Given the description of an element on the screen output the (x, y) to click on. 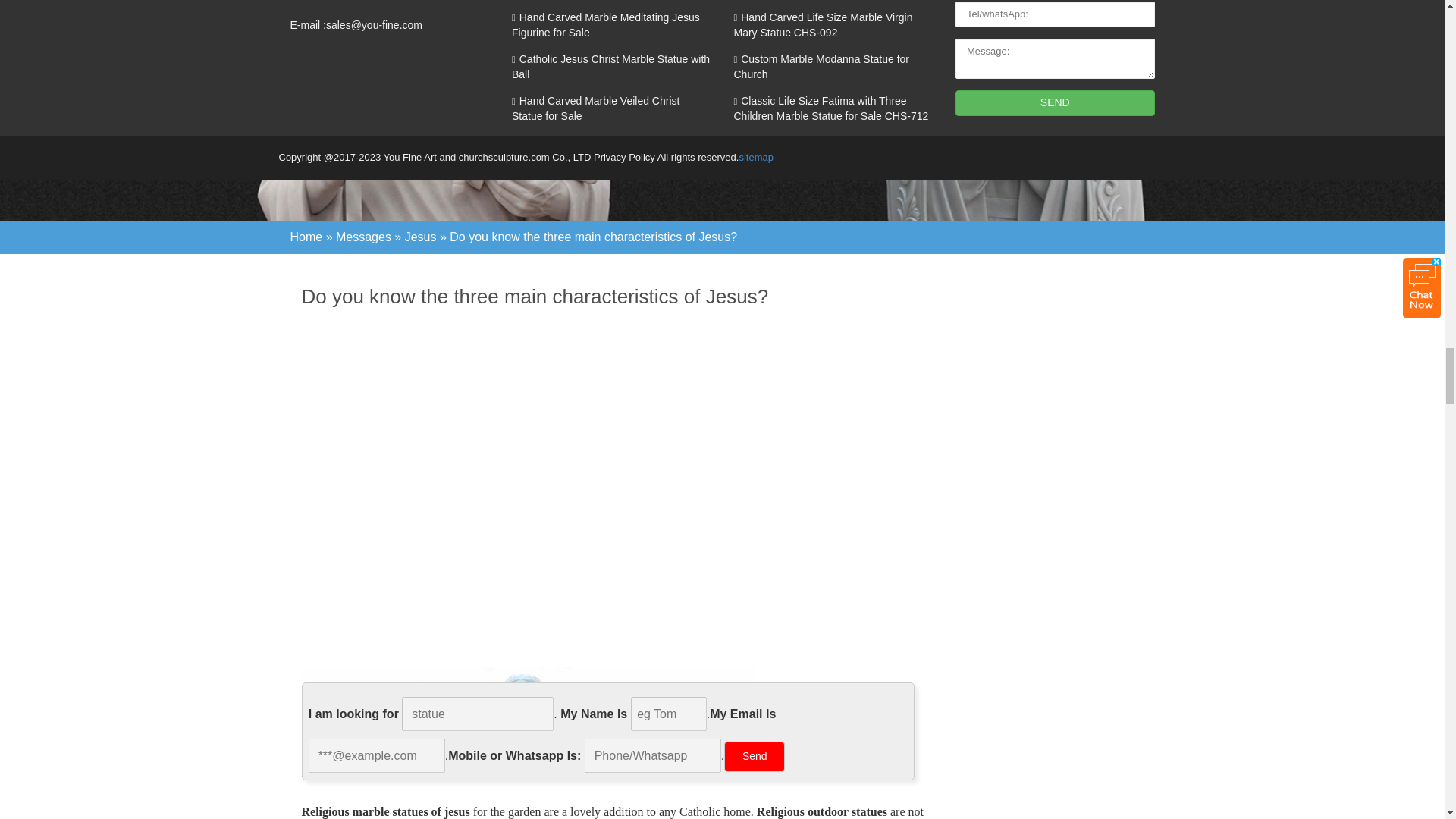
Send (753, 757)
